Given the description of an element on the screen output the (x, y) to click on. 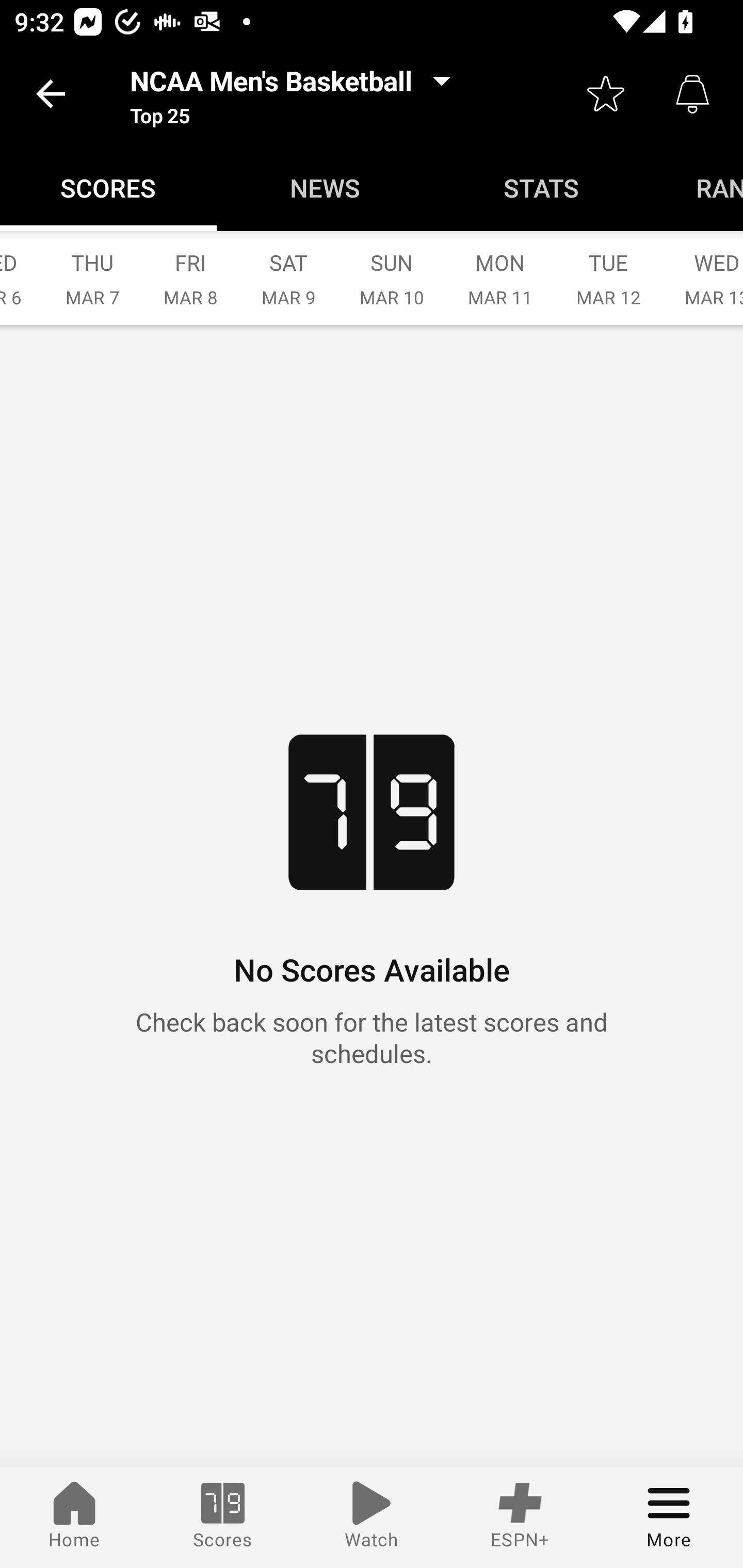
NCAA Men's Basketball Top 25 (296, 93)
Favorite toggle (605, 93)
Alerts (692, 93)
News NEWS (324, 187)
Stats STATS (541, 187)
THU MAR 7 (92, 268)
FRI MAR 8 (190, 268)
SAT MAR 9 (288, 268)
SUN MAR 10 (391, 268)
MON MAR 11 (499, 268)
TUE MAR 12 (608, 268)
WED MAR 13 (702, 268)
Home (74, 1517)
Scores (222, 1517)
Watch (371, 1517)
ESPN+ (519, 1517)
